Given the description of an element on the screen output the (x, y) to click on. 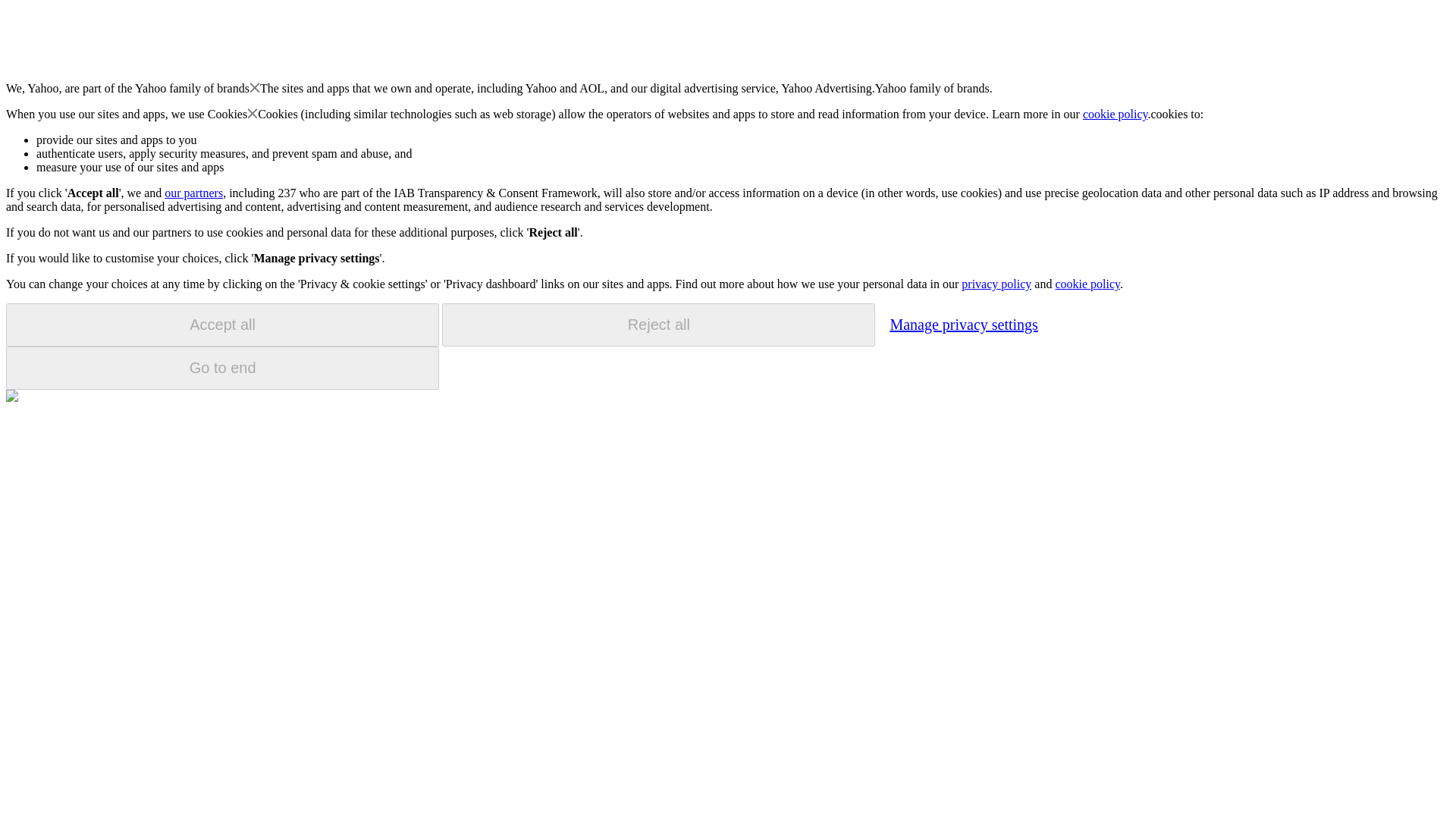
Accept all (222, 324)
privacy policy (995, 283)
cookie policy (1115, 113)
Go to end (222, 367)
cookie policy (1086, 283)
our partners (193, 192)
Reject all (658, 324)
Manage privacy settings (963, 323)
